Given the description of an element on the screen output the (x, y) to click on. 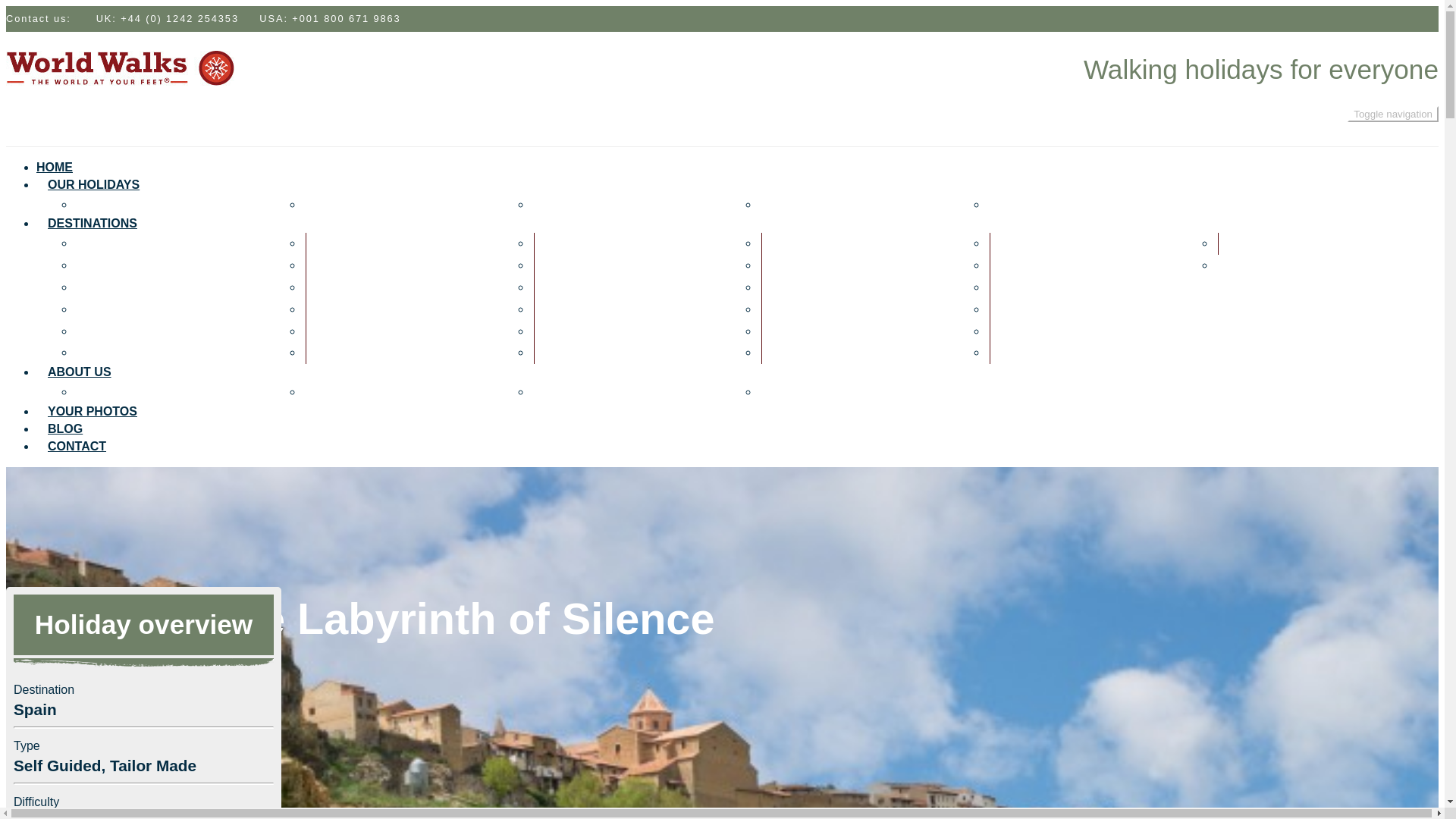
Cycling (1016, 204)
Bulgaria (106, 286)
Scotland (790, 351)
Pilgrim Routes (581, 204)
Hungary (334, 330)
Toggle navigation (1393, 114)
Corsica (103, 308)
Portugal (790, 308)
Greece (330, 308)
Czech Republic (126, 351)
France (329, 264)
Italy (550, 242)
Slovenia (1018, 264)
Montenegro (573, 351)
Belgium (105, 264)
